Given the description of an element on the screen output the (x, y) to click on. 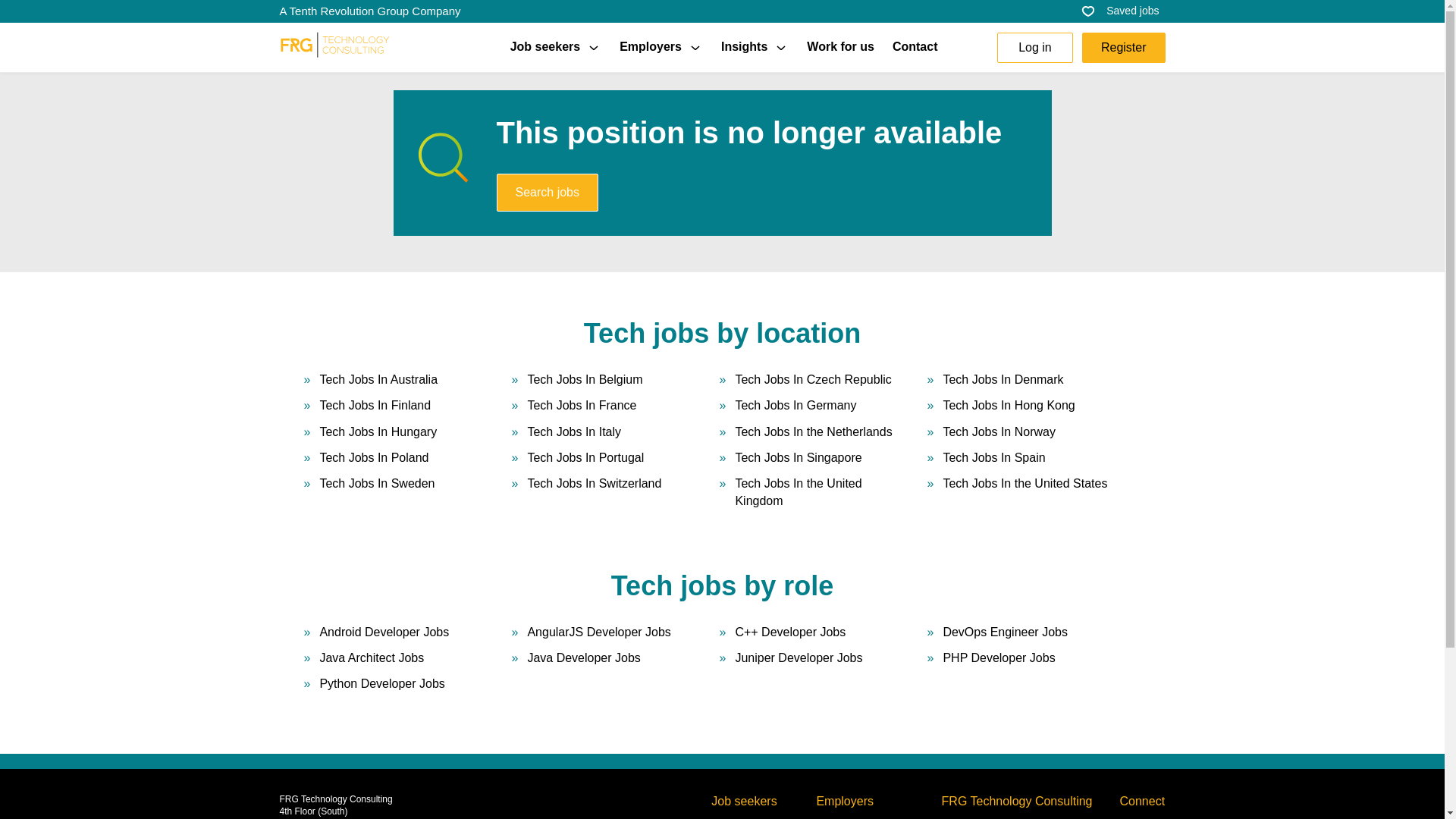
Tech Jobs In Switzerland (594, 492)
Contact (914, 47)
Tech Jobs In Hungary (377, 432)
Tech Jobs In Sweden (375, 492)
Tech Jobs In Poland (373, 457)
Tech Jobs In Belgium (584, 379)
Register (1123, 46)
Tech Jobs In Denmark (1002, 379)
Tech Jobs In Italy (574, 432)
Tech Jobs In the Netherlands (813, 432)
